Given the description of an element on the screen output the (x, y) to click on. 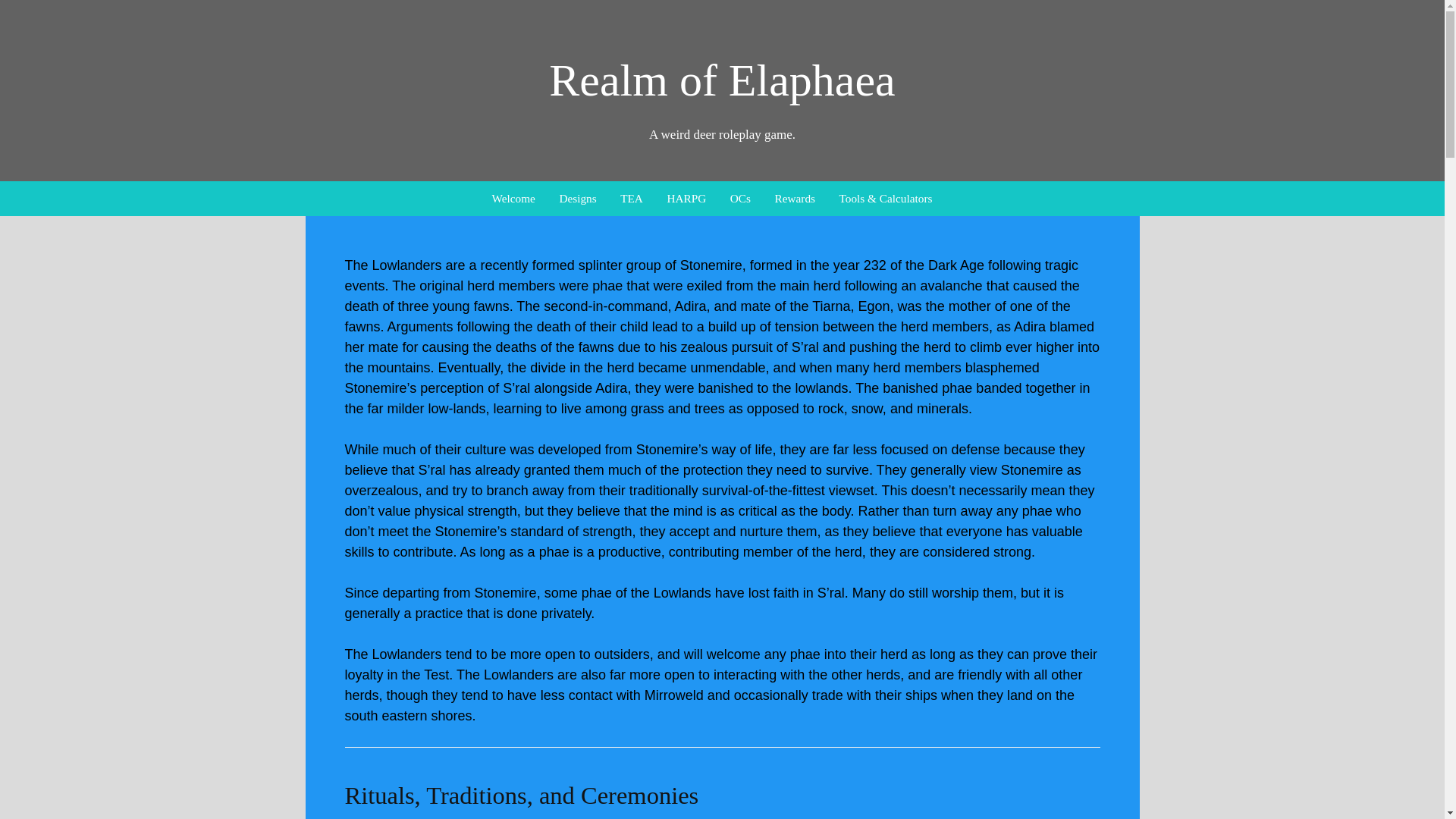
Realm of Elaphaea (721, 80)
Welcome (513, 198)
TEA (631, 198)
Designs (577, 198)
